Given the description of an element on the screen output the (x, y) to click on. 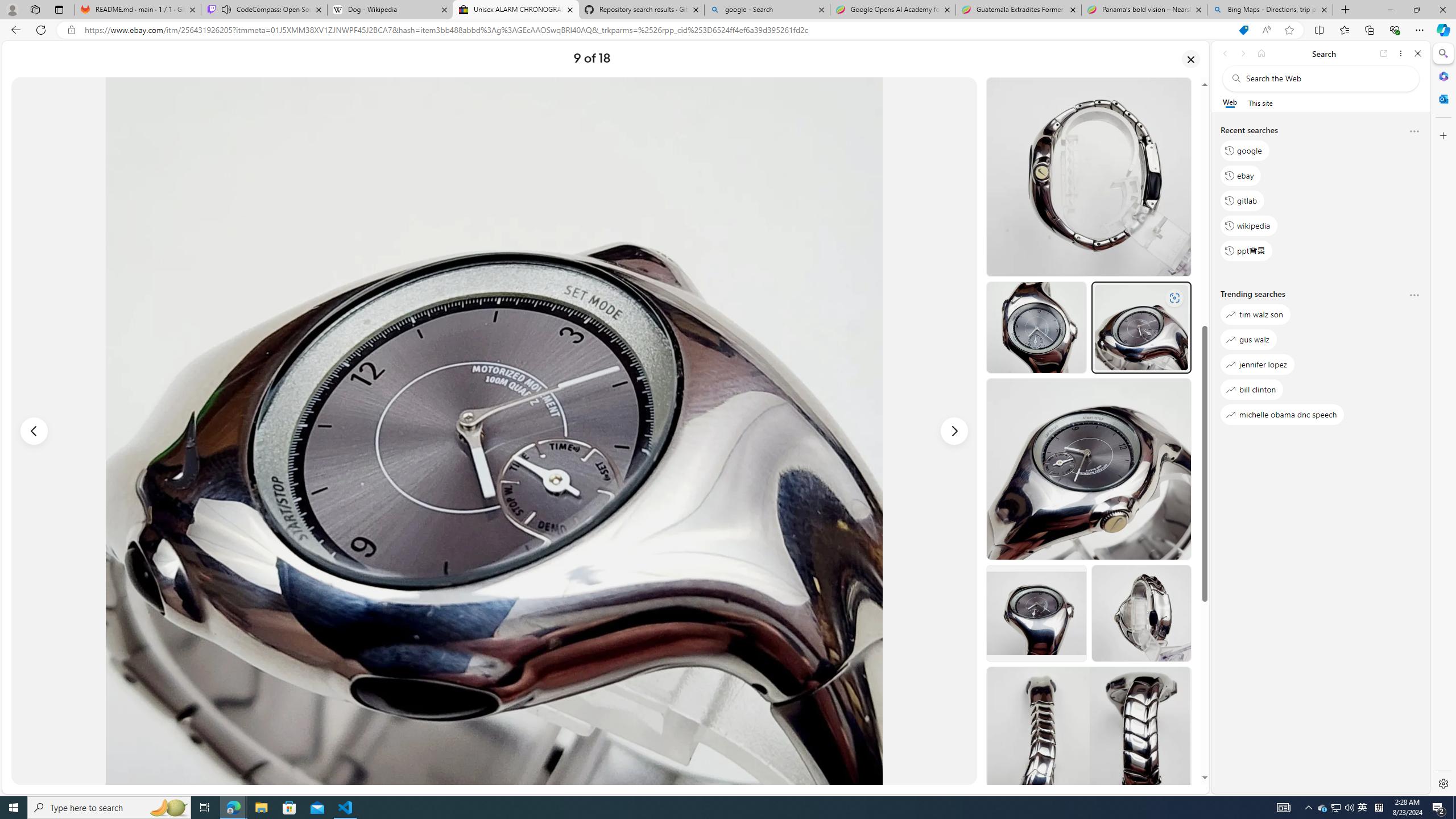
wikipedia (1249, 225)
Dog - Wikipedia (389, 9)
google (1244, 150)
